Given the description of an element on the screen output the (x, y) to click on. 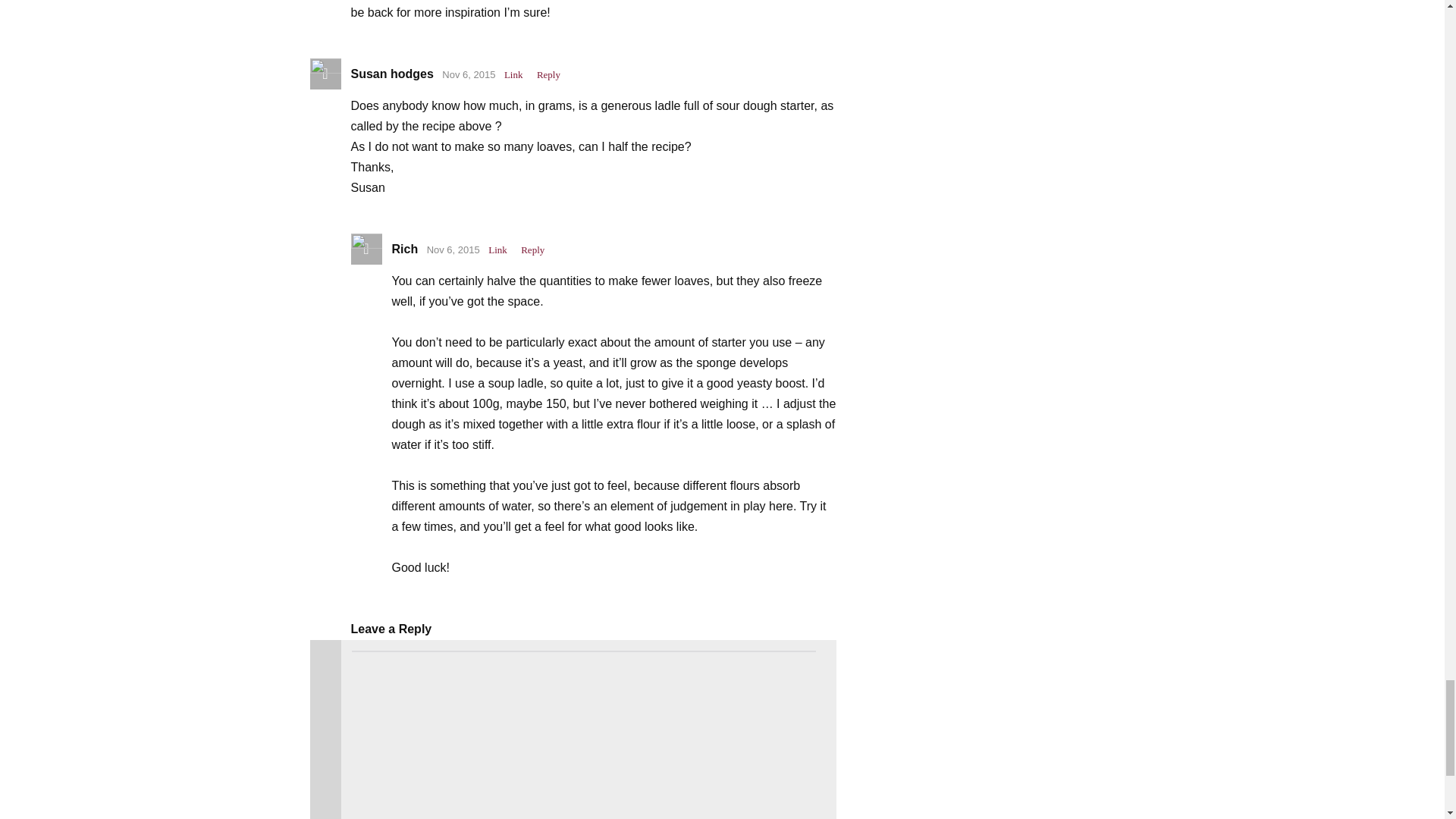
Reply (548, 74)
Link (497, 249)
Link (513, 74)
permalink to this comment (513, 74)
permalink to this comment (497, 249)
Reply (532, 249)
Rich (404, 248)
